Given the description of an element on the screen output the (x, y) to click on. 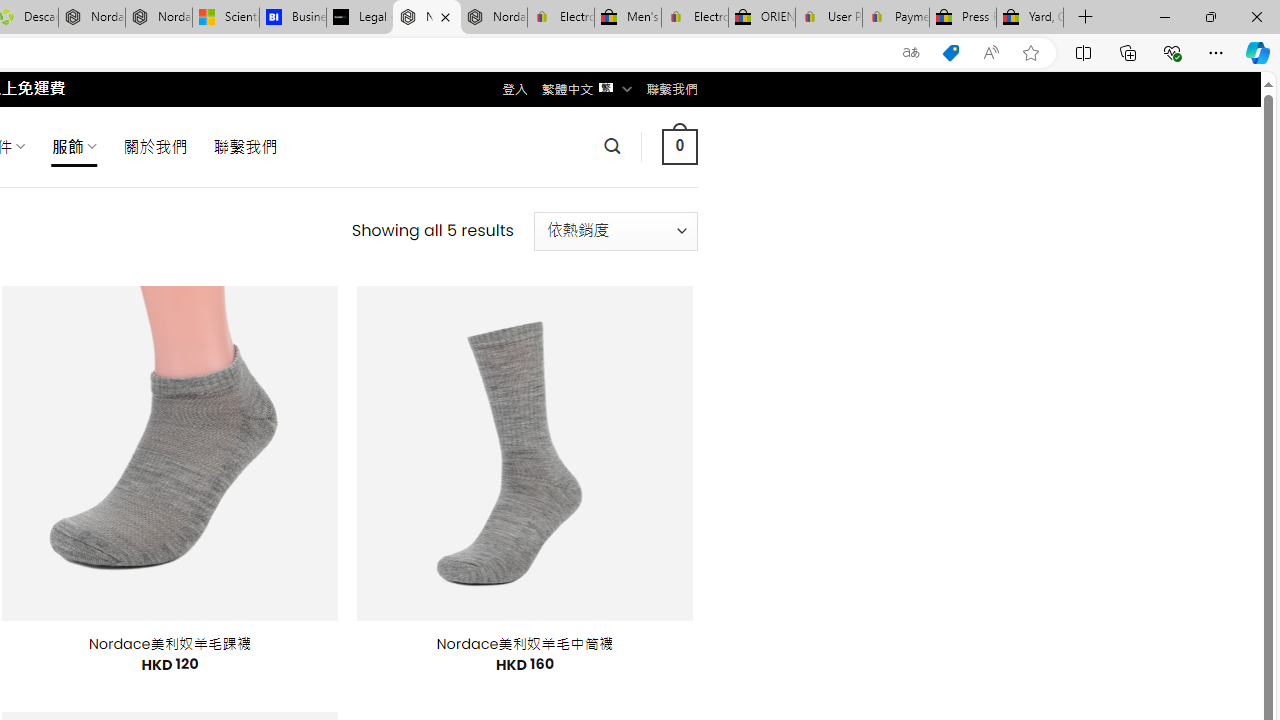
Payments Terms of Use | eBay.com (895, 17)
Press Room - eBay Inc. (962, 17)
This site has coupons! Shopping in Microsoft Edge (950, 53)
Nordace - Summer Adventures 2024 (91, 17)
